Given the description of an element on the screen output the (x, y) to click on. 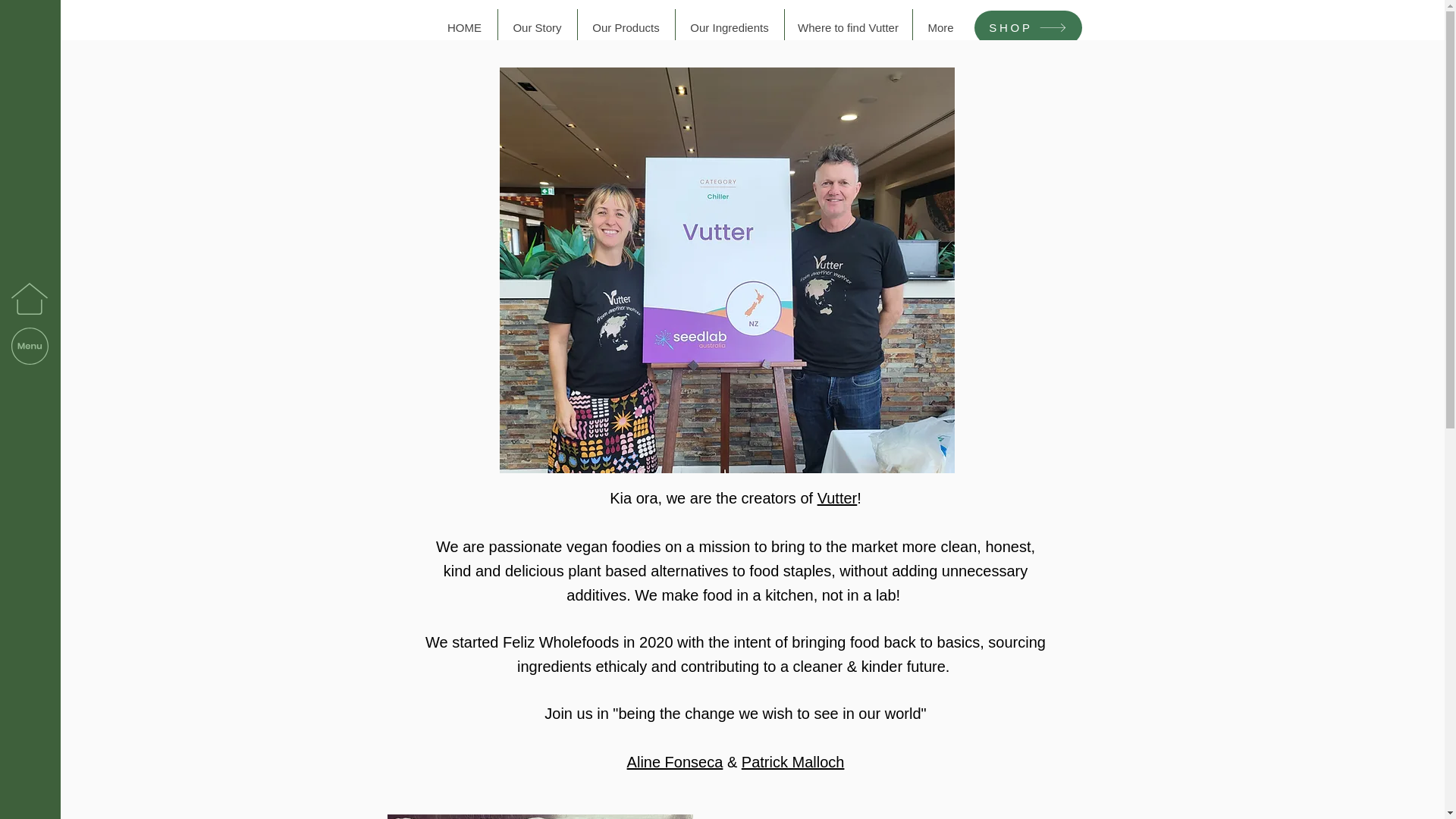
Our Products (625, 27)
Our Story (536, 27)
Where to find Vutter (848, 27)
Aline Fonseca (675, 761)
Our Ingredients (729, 27)
Feliz Wholefoods and what we stand for (540, 816)
Patrick Malloch (792, 761)
Vutter (836, 497)
HOME (464, 27)
SHOP (1027, 27)
